Given the description of an element on the screen output the (x, y) to click on. 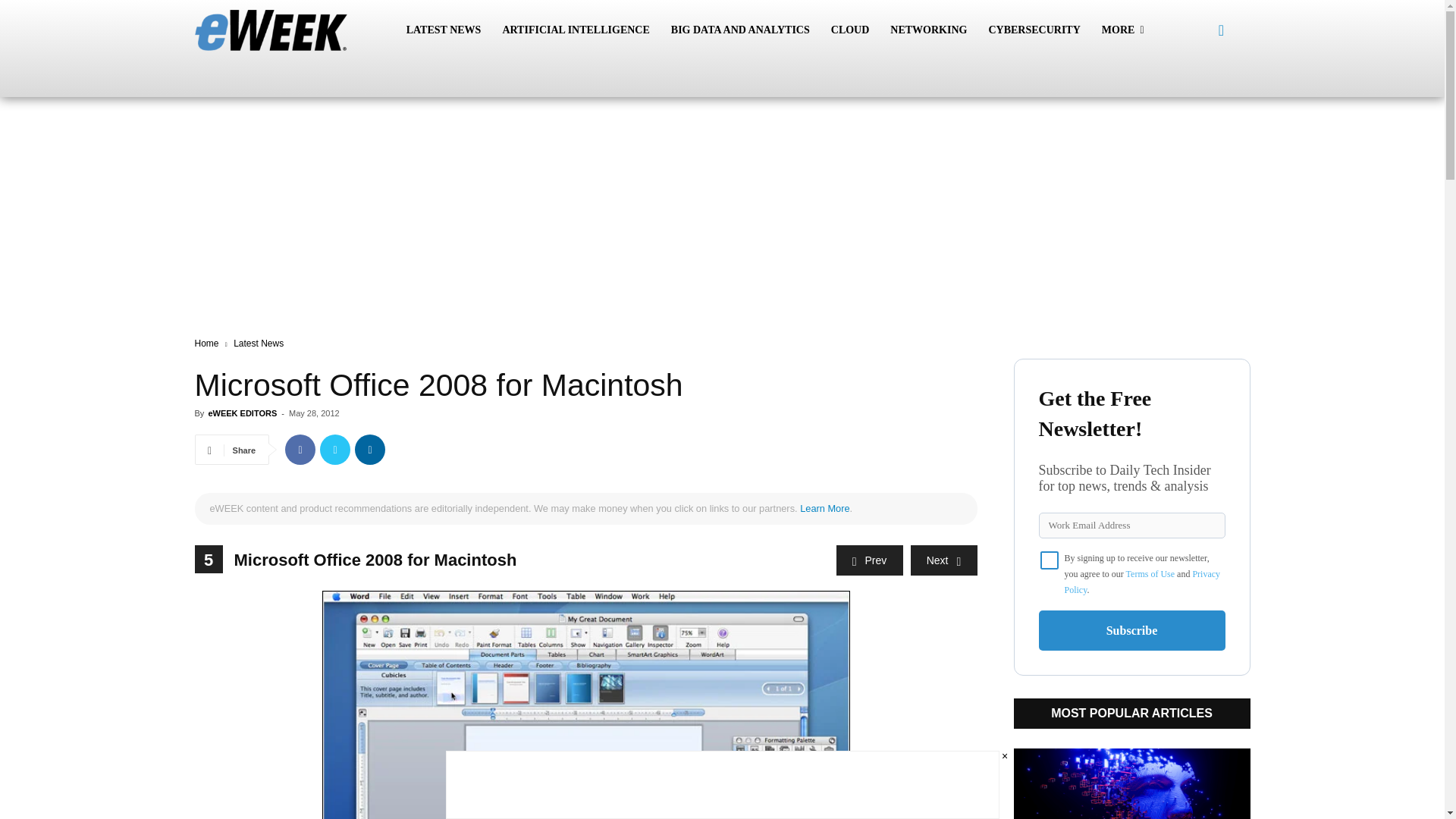
3rd party ad content (721, 155)
CYBERSECURITY (1033, 30)
NETWORKING (927, 30)
Twitter (335, 449)
Linkedin (370, 449)
CLOUD (850, 30)
LATEST NEWS (444, 30)
on (1049, 560)
ARTIFICIAL INTELLIGENCE (575, 30)
BIG DATA AND ANALYTICS (741, 30)
Facebook (300, 449)
